Given the description of an element on the screen output the (x, y) to click on. 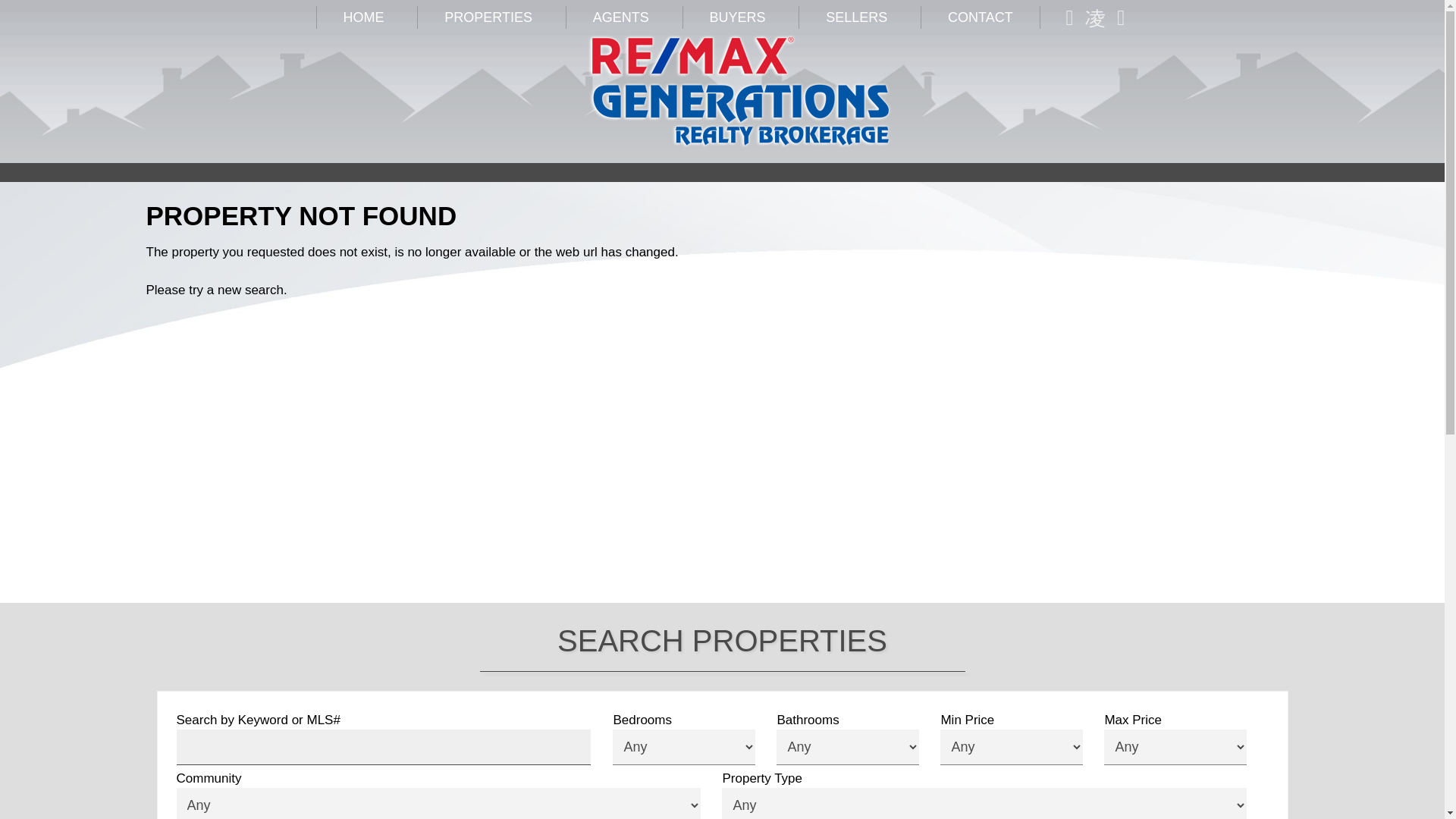
CONTACT (980, 16)
BUYERS (737, 16)
AGENTS (620, 16)
HOME (362, 16)
PROPERTIES (487, 16)
SELLERS (855, 16)
